Given the description of an element on the screen output the (x, y) to click on. 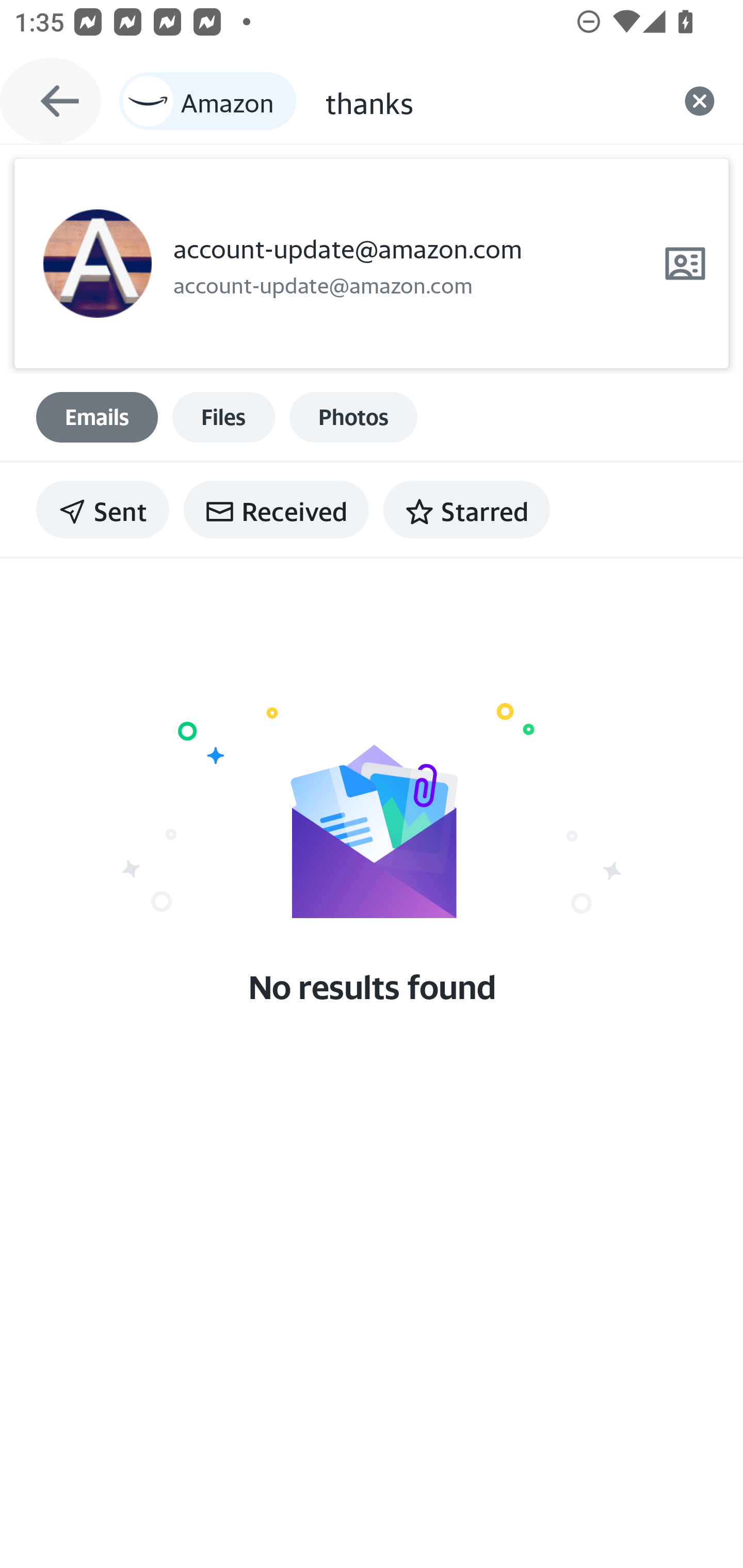
Back (50, 101)
thanks (490, 101)
Clear (699, 101)
Profile (97, 264)
Emails (96, 417)
Files (223, 417)
Photos (353, 417)
Sent (102, 509)
Received (276, 509)
Starred (466, 509)
